Given the description of an element on the screen output the (x, y) to click on. 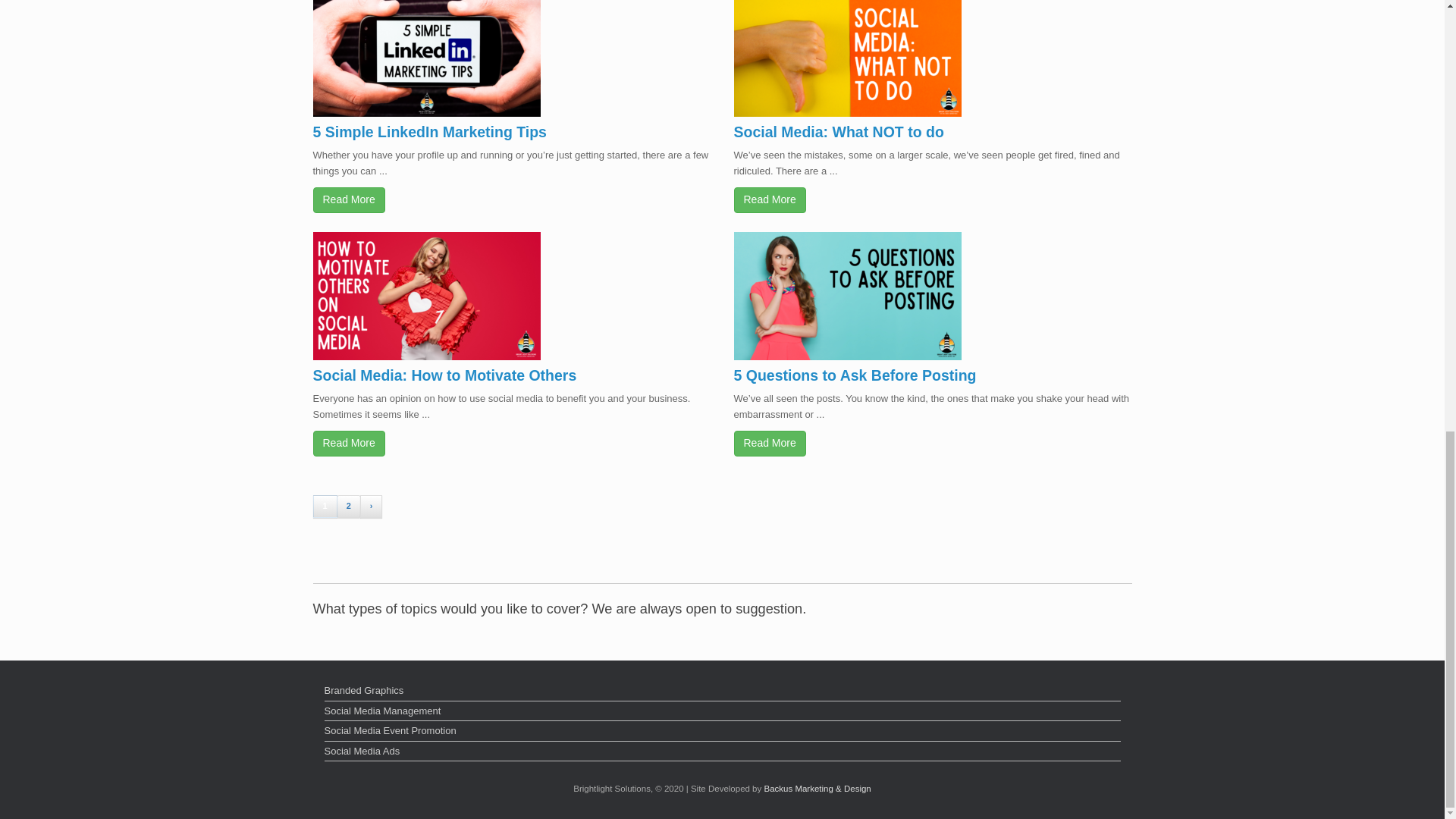
5 Simple LinkedIn Marketing Tips (429, 131)
Social Media Management (722, 712)
Social Media: What NOT to do (838, 131)
Read More (348, 199)
Read More (348, 443)
Go to next page (370, 506)
Go to page 2 (348, 506)
1 (324, 506)
Branded Graphics (722, 692)
Current page is 1 (324, 506)
5 Questions to Ask Before Posting (854, 375)
2 (348, 506)
Read More (769, 443)
Read More (769, 199)
Social Media: How to Motivate Others (444, 375)
